Given the description of an element on the screen output the (x, y) to click on. 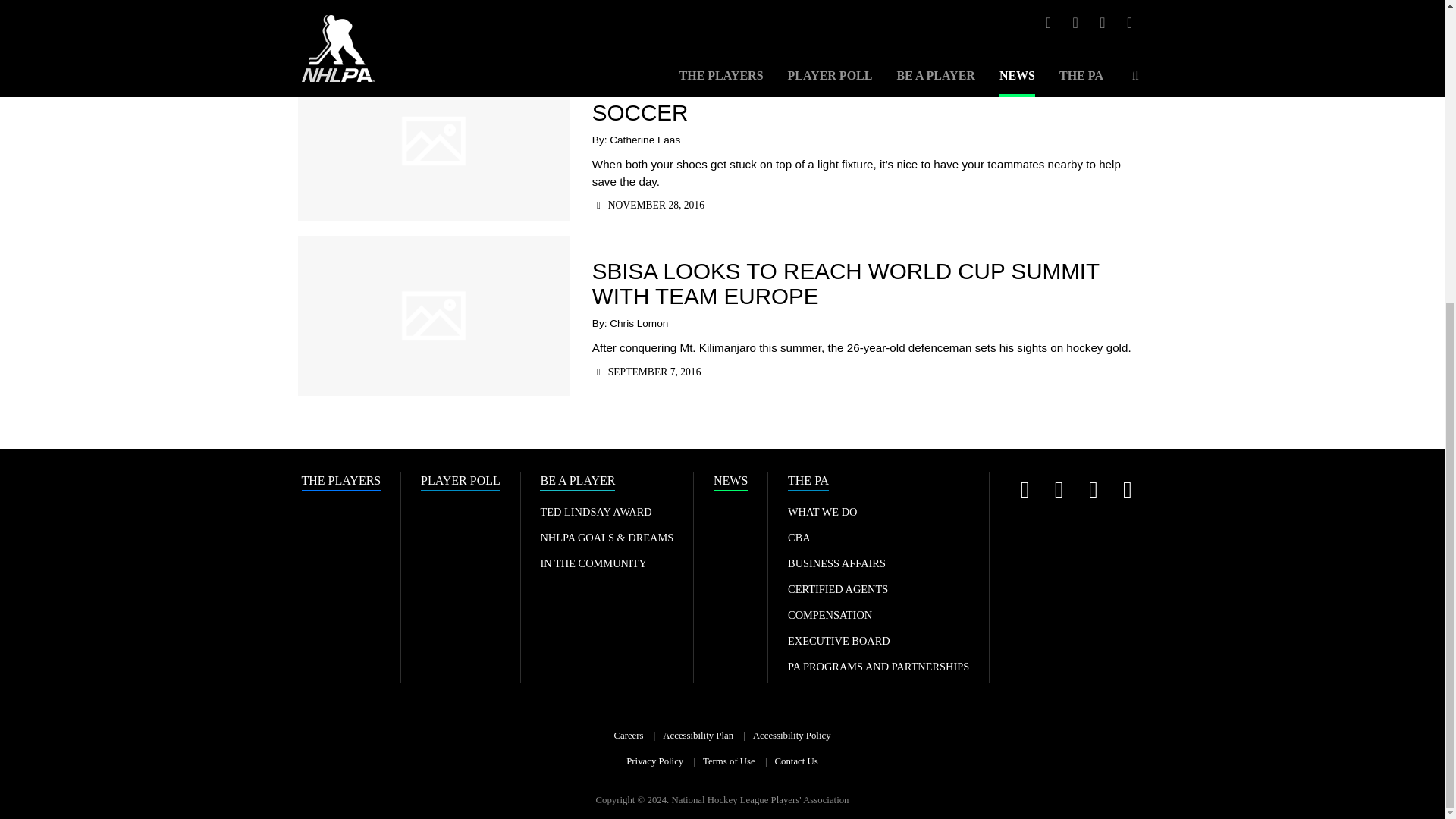
THE PLAYERS (341, 481)
Instagram (1058, 489)
YouTube (1092, 489)
Careers (627, 735)
WHAT WE DO (822, 511)
EXECUTIVE BOARD (838, 640)
COMPENSATION (829, 614)
Twitter (1025, 489)
PLAYER POLL (460, 481)
